Given the description of an element on the screen output the (x, y) to click on. 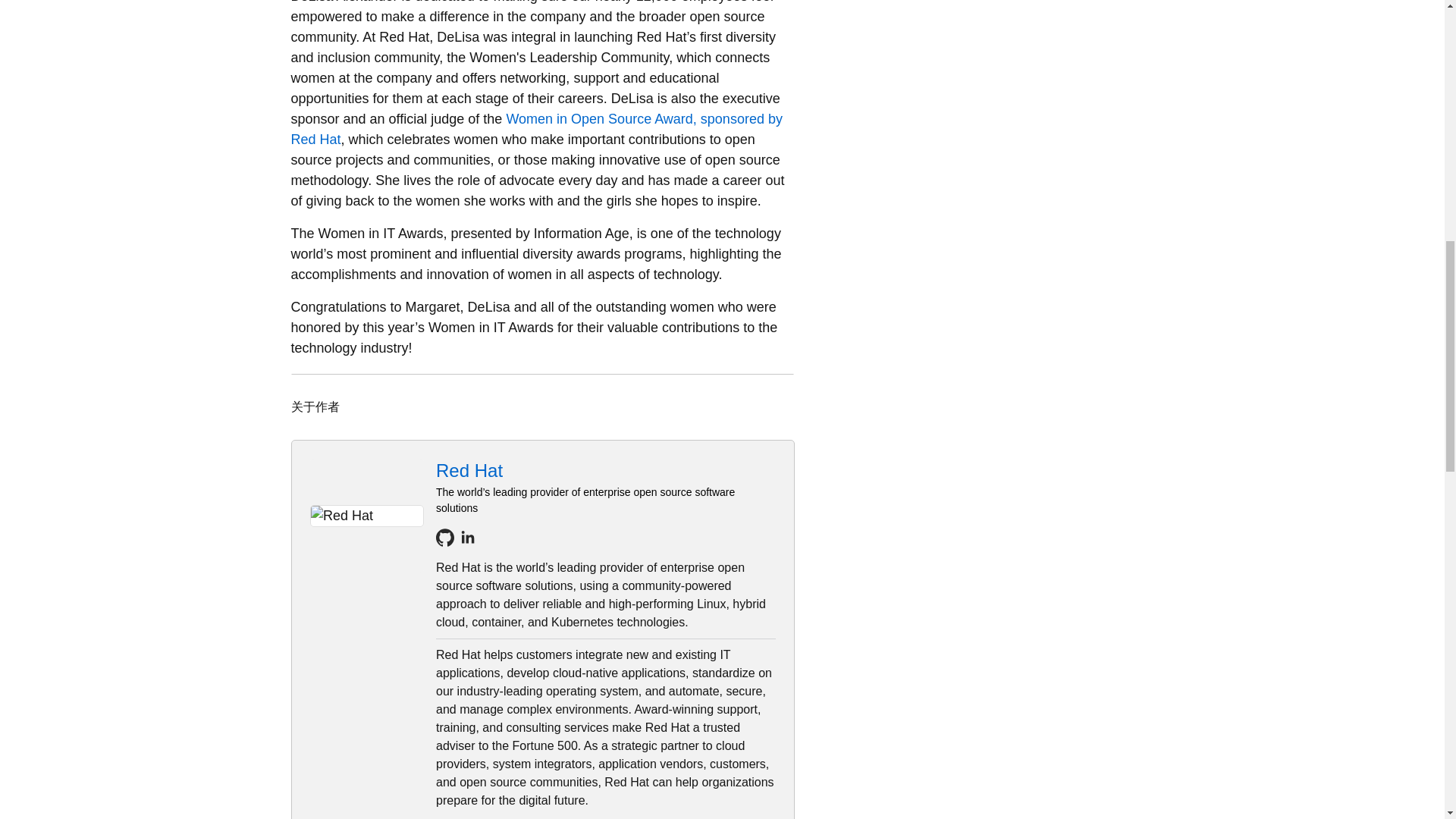
Follow Red Hat on Github (443, 537)
Follow Red Hat LinkedIn (467, 537)
